Given the description of an element on the screen output the (x, y) to click on. 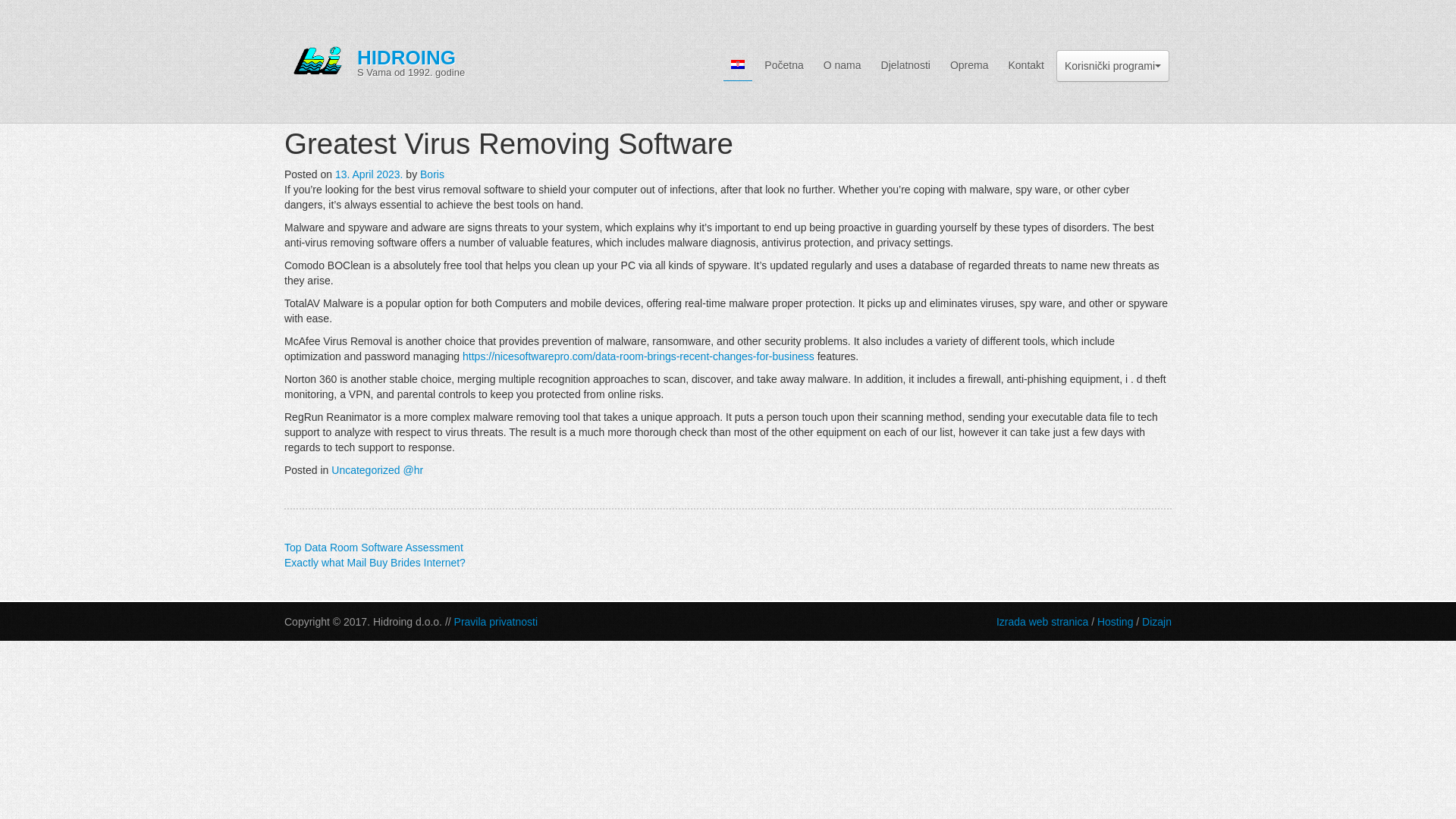
Oprema (968, 64)
Dizajn (1156, 621)
Exactly what Mail Buy Brides Internet? (374, 562)
Top Data Room Software Assessment (373, 547)
13. April 2023. (368, 174)
Izrada web stranica (1041, 621)
Boris (432, 174)
Kontakt (1025, 64)
O nama (842, 64)
Pravila privatnosti (496, 621)
